Given the description of an element on the screen output the (x, y) to click on. 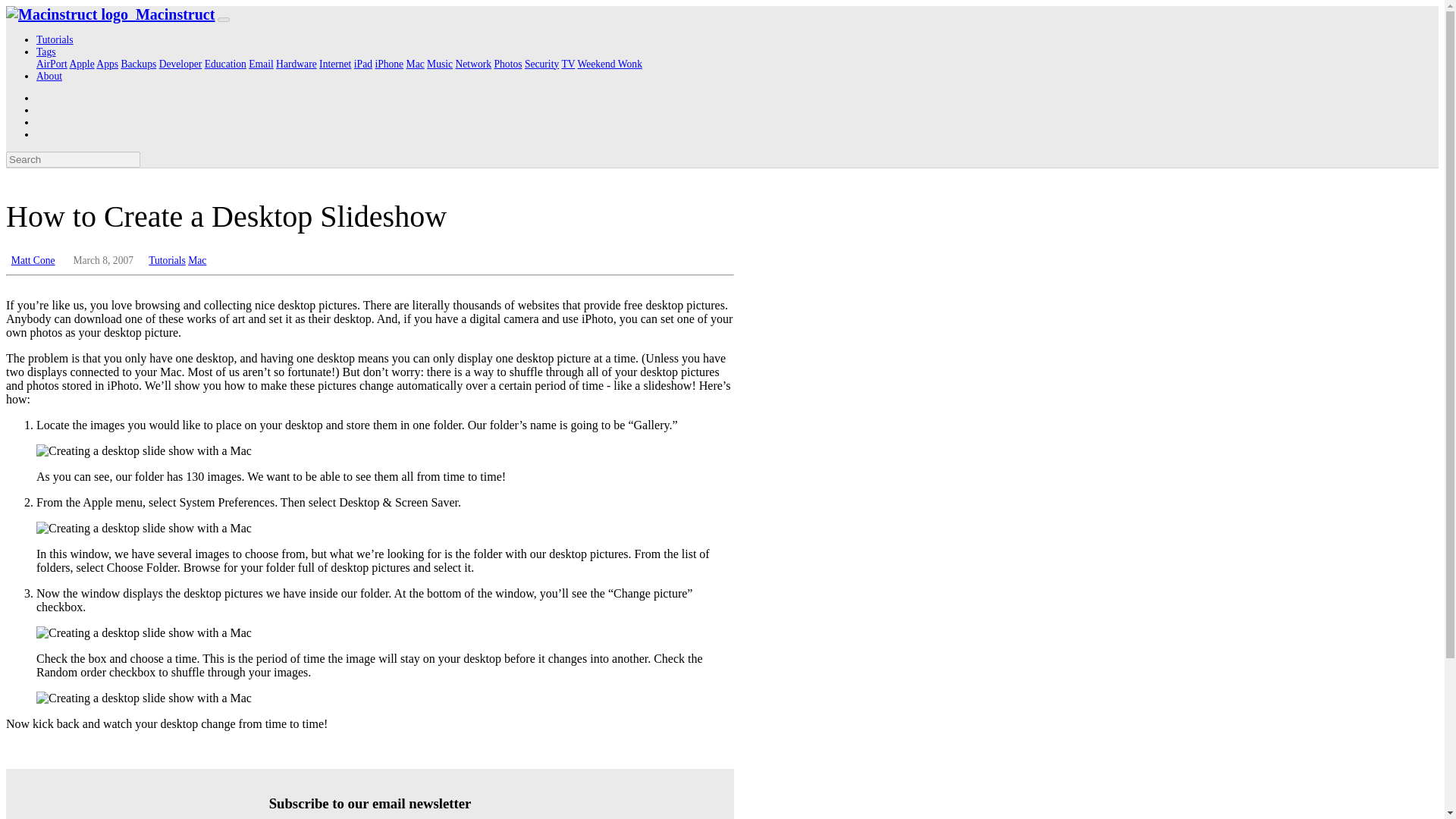
AirPort (51, 63)
Internet (334, 63)
Mac (415, 63)
Hardware (296, 63)
Music (439, 63)
Network (473, 63)
iPad (362, 63)
Apple (81, 63)
Matt Cone (33, 260)
Education (225, 63)
